Given the description of an element on the screen output the (x, y) to click on. 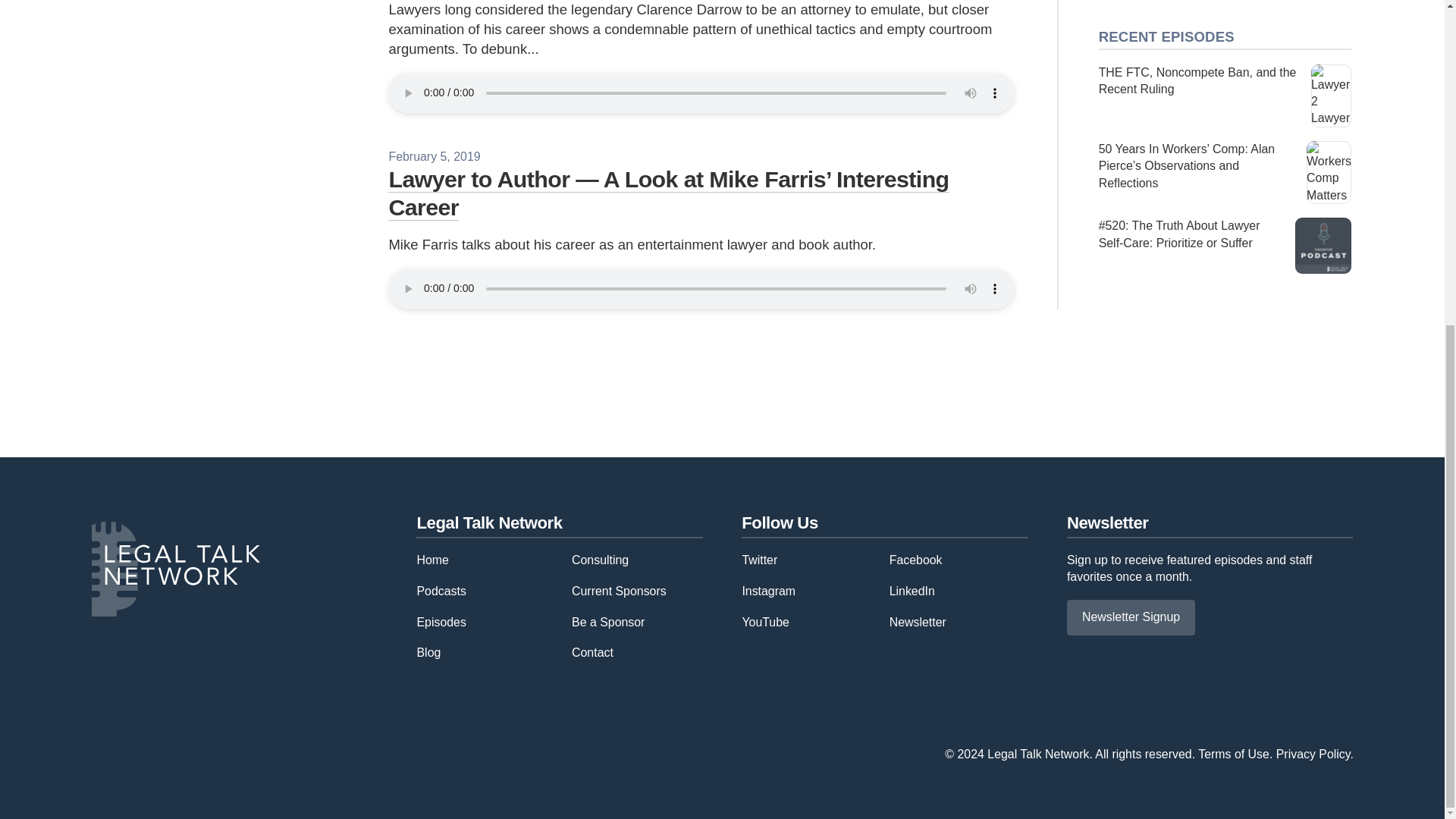
Home (432, 559)
Contact (592, 652)
Podcasts (440, 590)
Blog (428, 652)
Episodes (440, 621)
Instagram (767, 590)
Facebook (915, 559)
Consulting (600, 559)
Current Sponsors (619, 590)
Newsletter (917, 621)
